Given the description of an element on the screen output the (x, y) to click on. 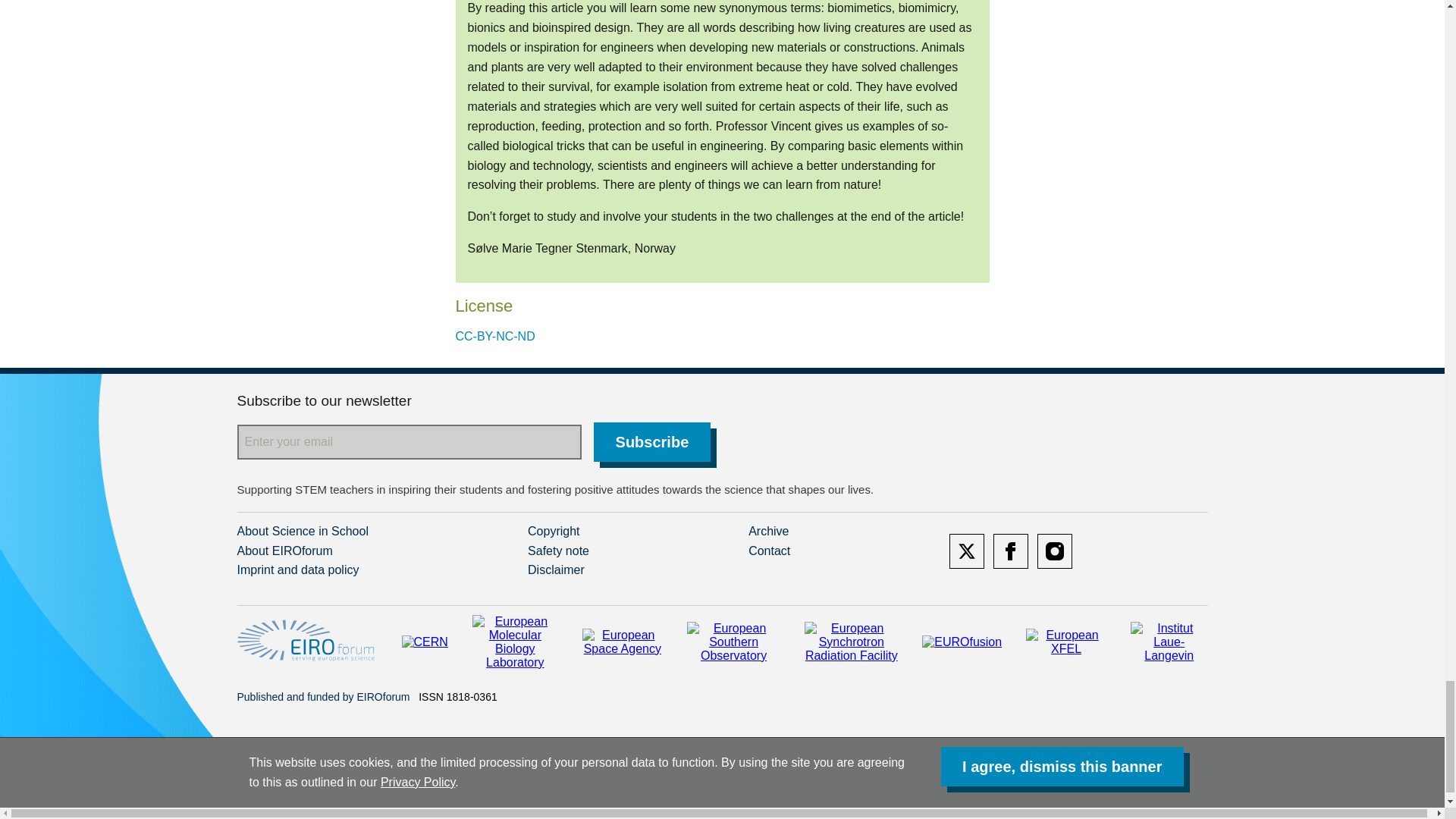
European Molecular Biology Laboratory (514, 642)
European XFEL (1066, 642)
European Southern Observatory (733, 641)
European Synchrotron Radiation Facility (851, 641)
European Space Agency (622, 642)
CERN (424, 642)
EUROfusion (961, 642)
Institut Laue-Langevin (1169, 641)
